Given the description of an element on the screen output the (x, y) to click on. 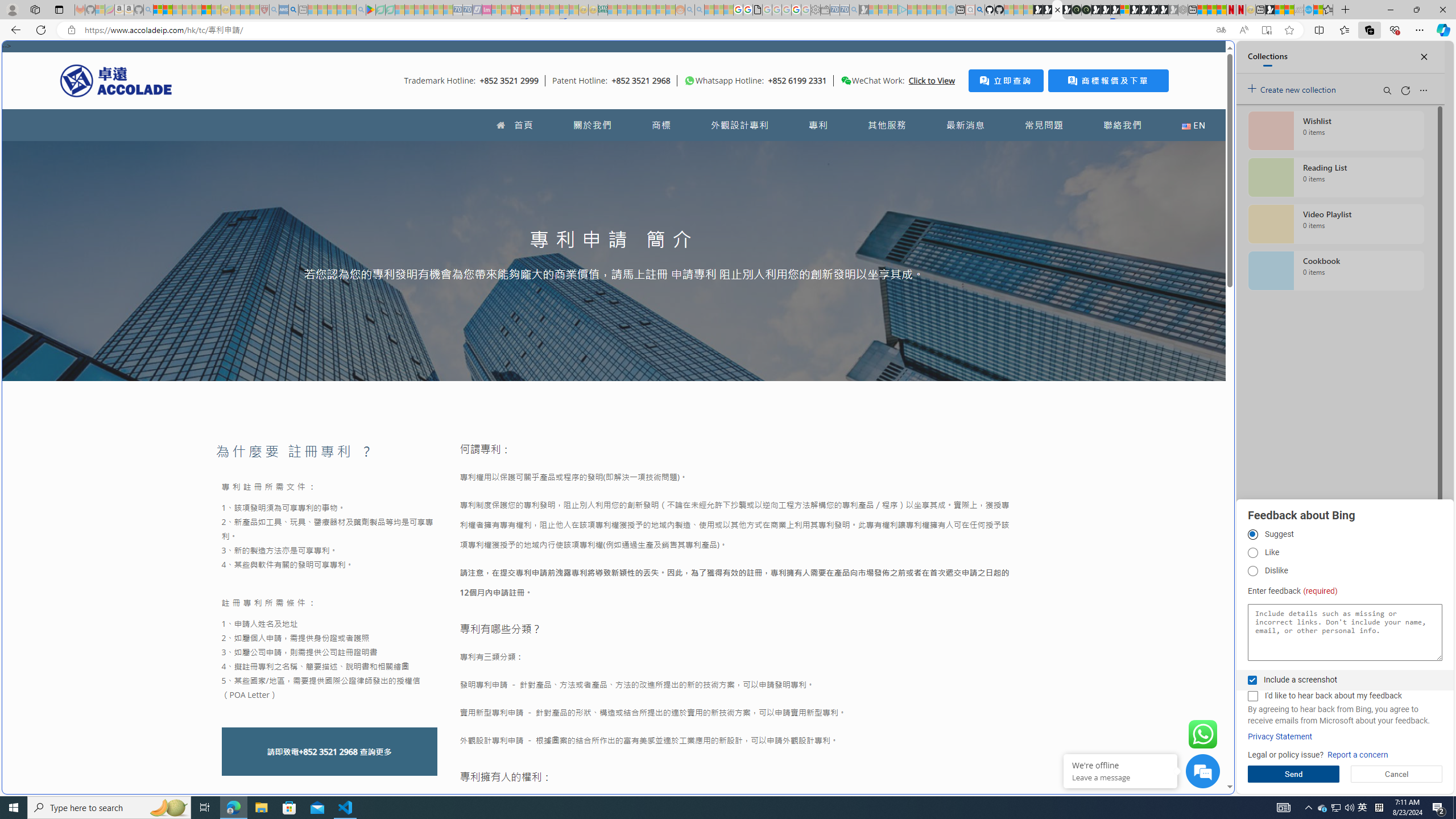
Latest Politics News & Archive | Newsweek.com - Sleeping (515, 9)
Pets - MSN - Sleeping (340, 9)
DITOGAMES AG Imprint (602, 9)
Search or enter web address (922, 108)
Cheap Car Rentals - Save70.com - Sleeping (844, 9)
